Given the description of an element on the screen output the (x, y) to click on. 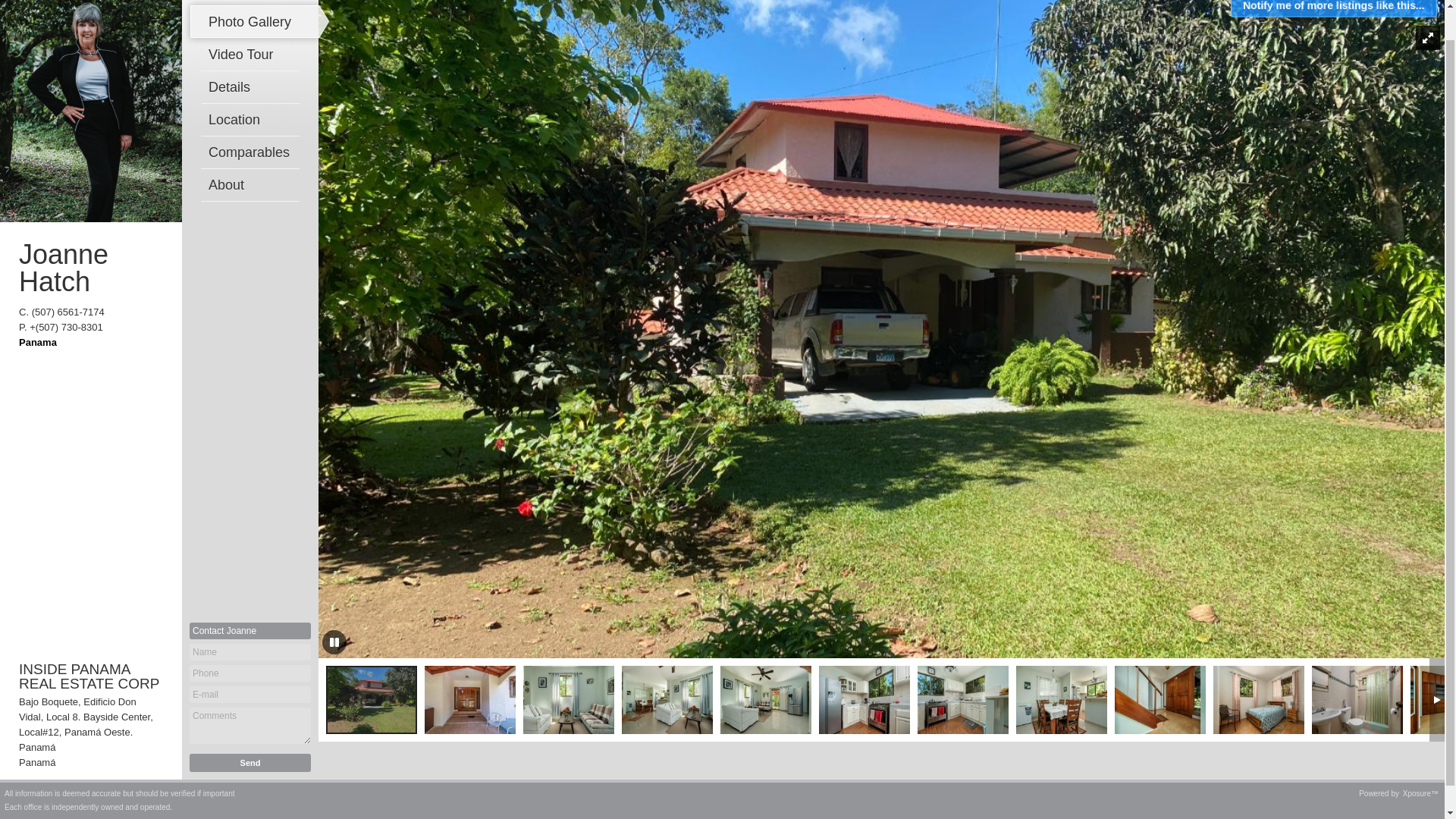
Send (250, 762)
About (253, 184)
Video Tour (253, 54)
Photo Gallery (253, 21)
Visit website.. (37, 342)
Panama (37, 342)
Comparables (253, 152)
Details (253, 87)
Location (253, 119)
